Given the description of an element on the screen output the (x, y) to click on. 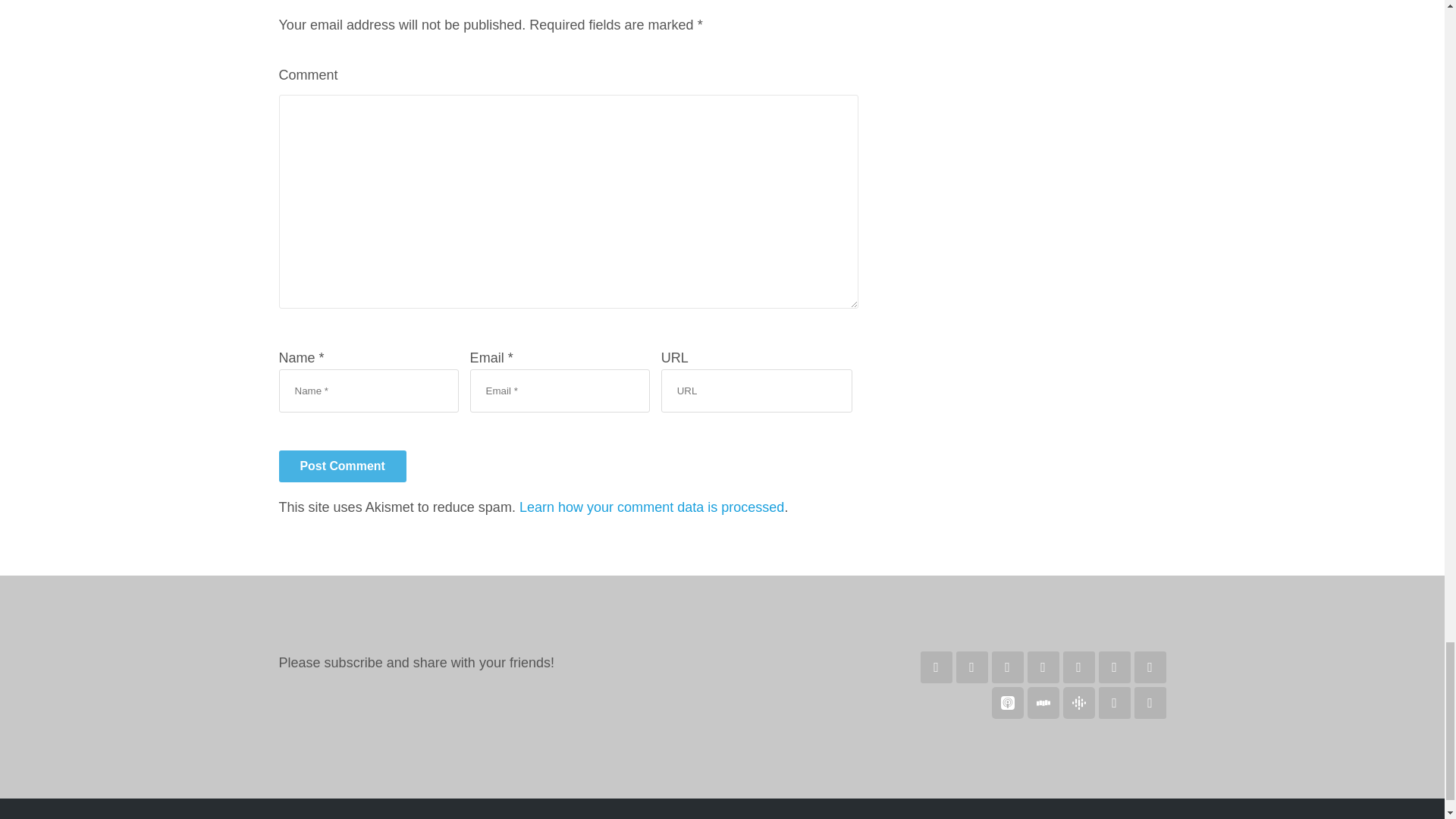
Post Comment (342, 466)
